Given the description of an element on the screen output the (x, y) to click on. 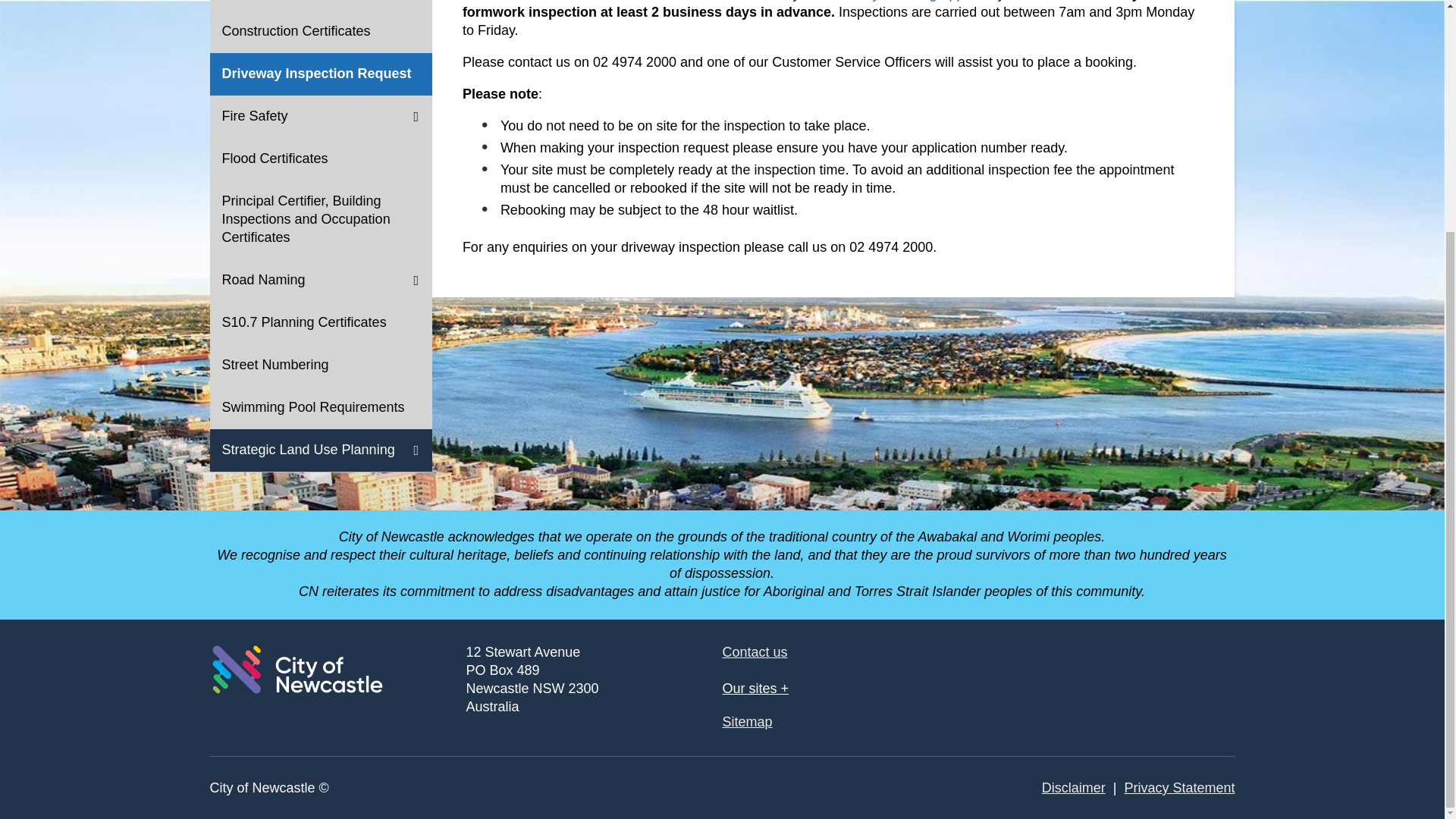
Twitter (1146, 670)
Facebook (1085, 670)
Instagram (1206, 670)
City of Newcastle (296, 669)
